Given the description of an element on the screen output the (x, y) to click on. 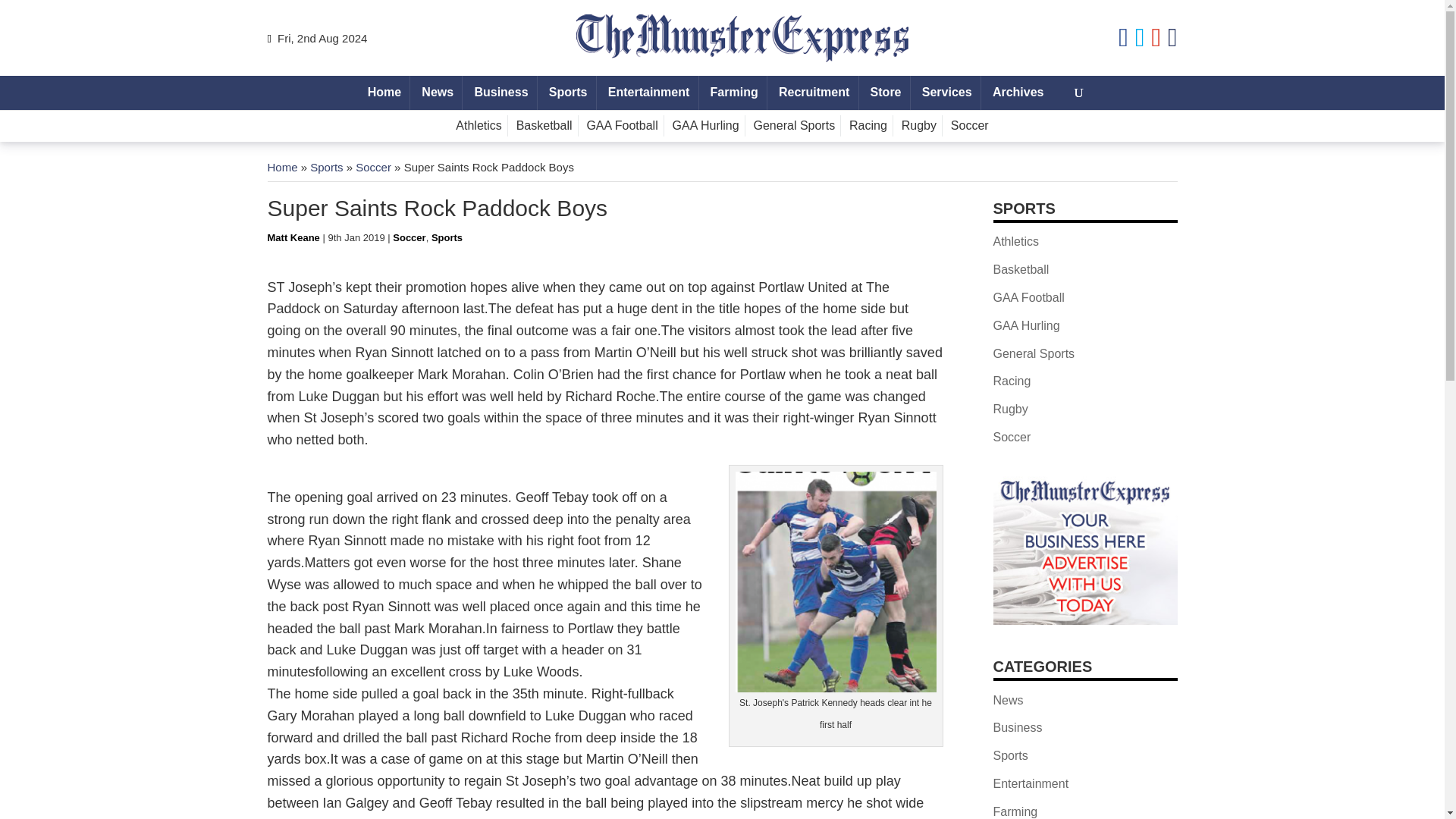
Entertainment (648, 92)
Athletics (477, 125)
Basketball (544, 125)
Soccer (373, 166)
GAA Hurling (705, 125)
Sports (446, 237)
News (437, 92)
GAA Football (621, 125)
Matt Keane (292, 237)
Home (281, 166)
